Given the description of an element on the screen output the (x, y) to click on. 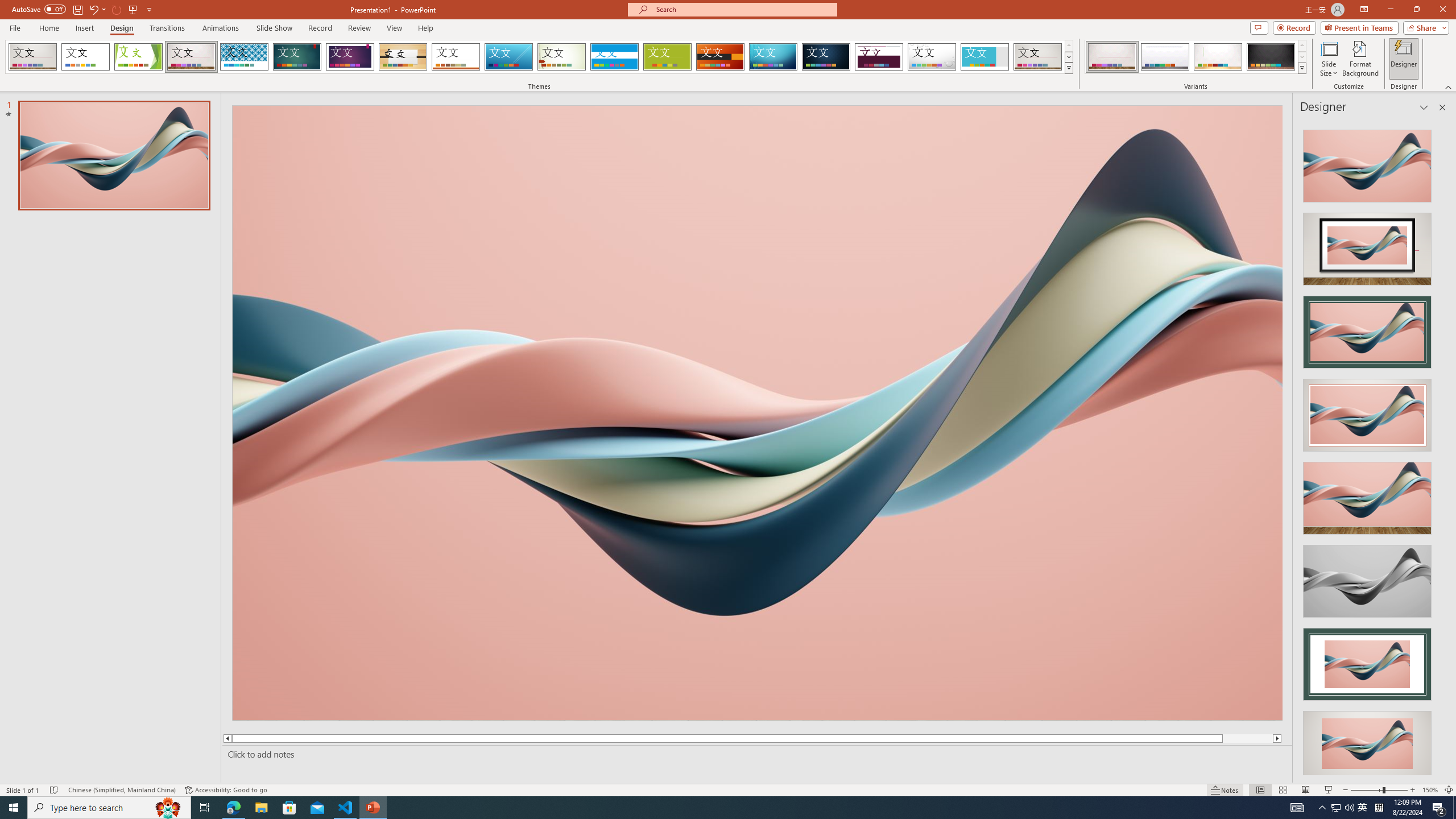
Office Theme (85, 56)
Retrospect (455, 56)
Droplet (931, 56)
Banded (614, 56)
